Given the description of an element on the screen output the (x, y) to click on. 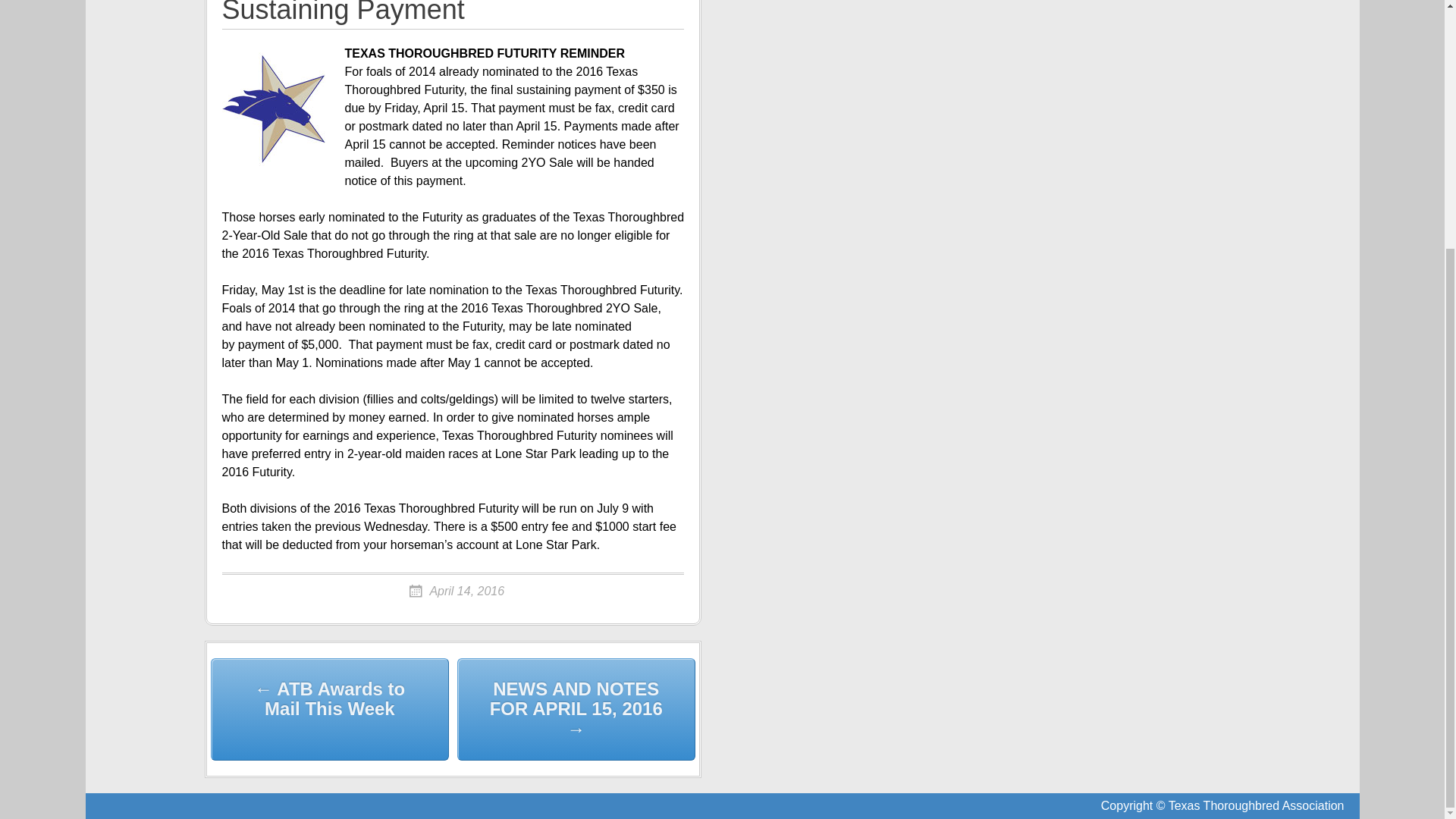
April 14, 2016 (455, 590)
April 14, 2016 (455, 590)
